Given the description of an element on the screen output the (x, y) to click on. 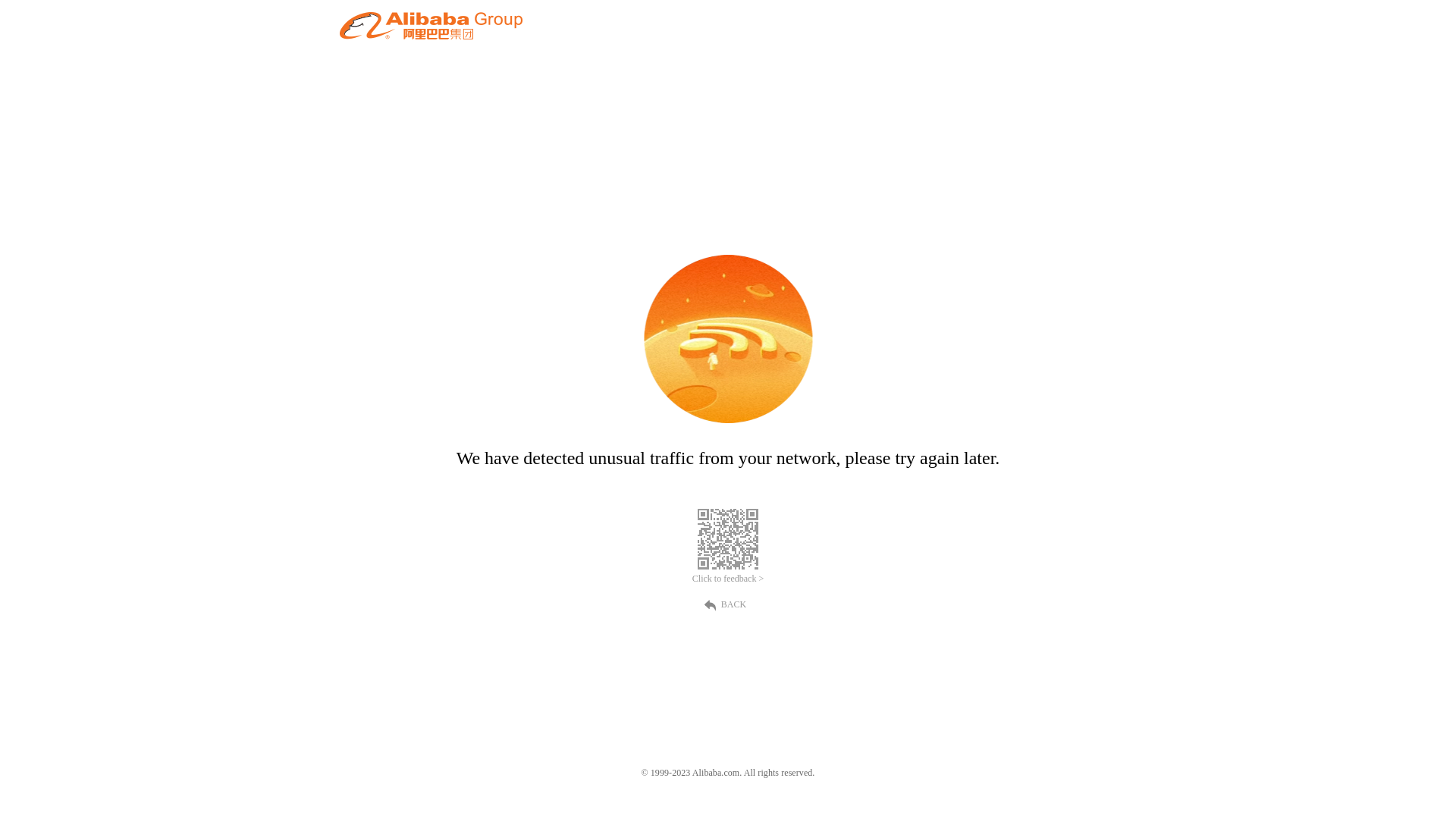
BACK Element type: text (727, 603)
Click to feedback > Element type: text (727, 578)
